Given the description of an element on the screen output the (x, y) to click on. 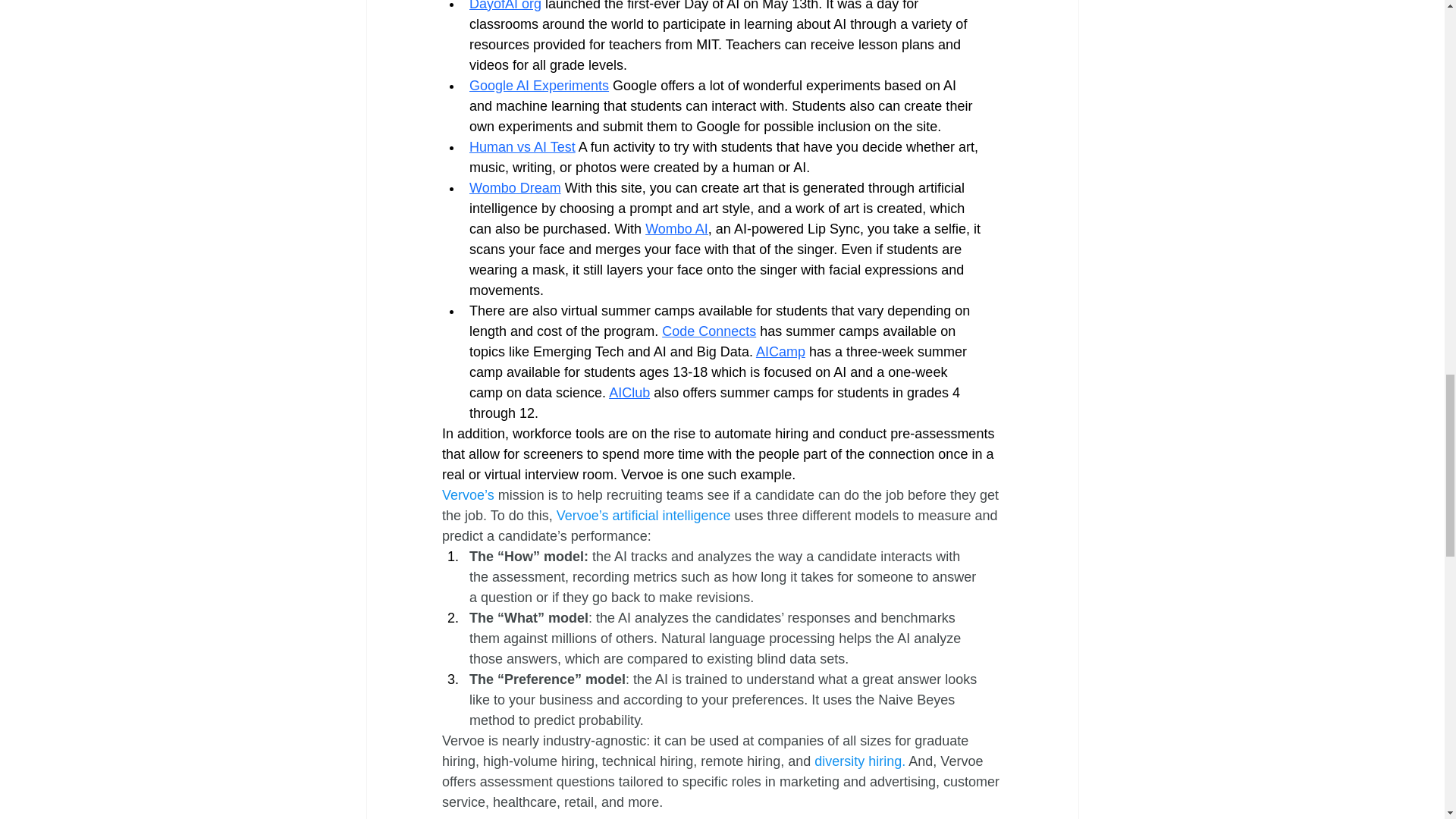
AICamp (780, 351)
Google AI Experiments (538, 85)
Wombo Dream (514, 187)
diversity hiring (857, 761)
Wombo AI (676, 228)
Code Connects (708, 331)
DayofAI org (504, 5)
Human vs AI Test (521, 146)
AIClub (628, 392)
